Given the description of an element on the screen output the (x, y) to click on. 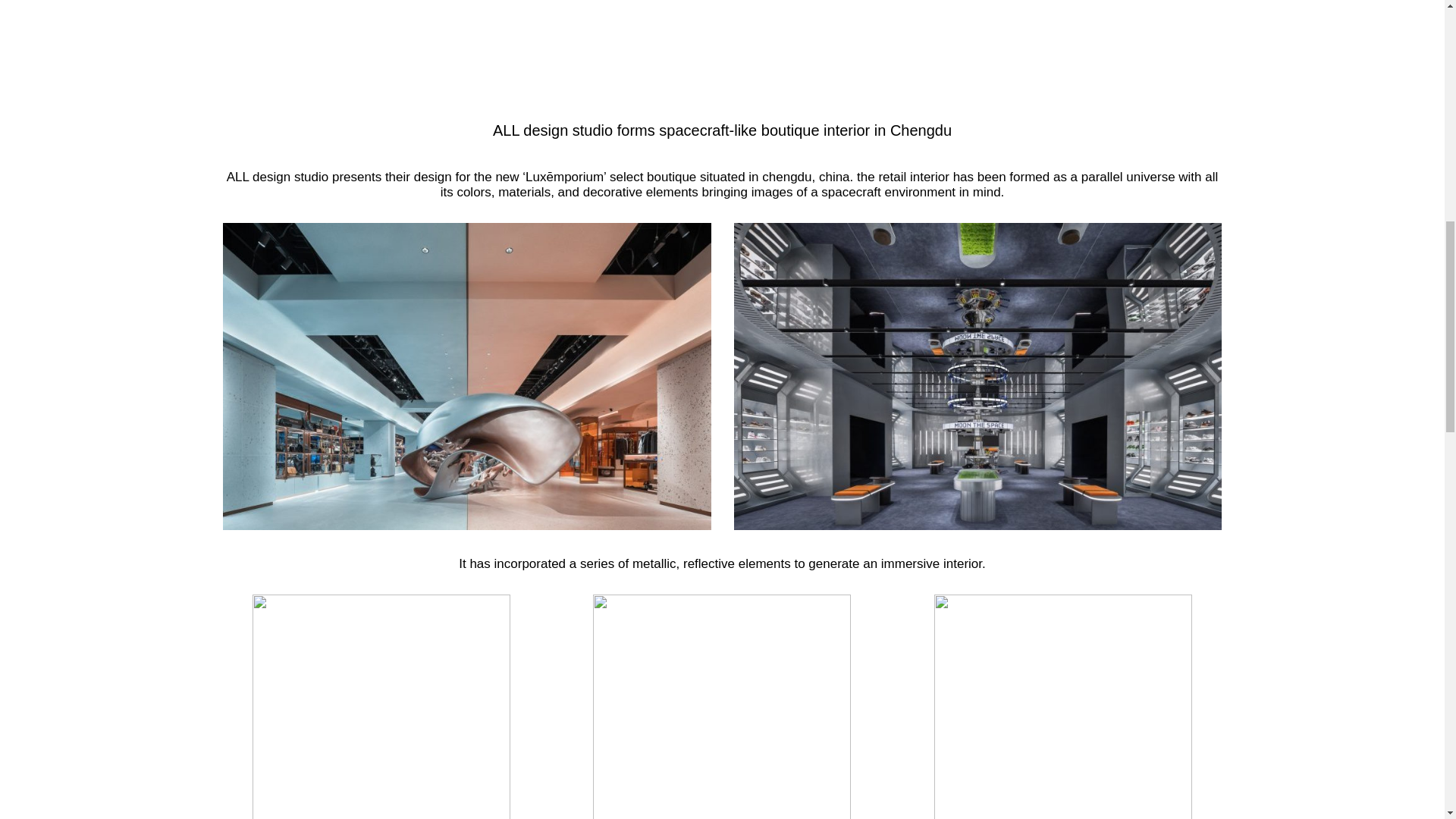
5 (721, 706)
4 (381, 706)
6 (1063, 706)
